Given the description of an element on the screen output the (x, y) to click on. 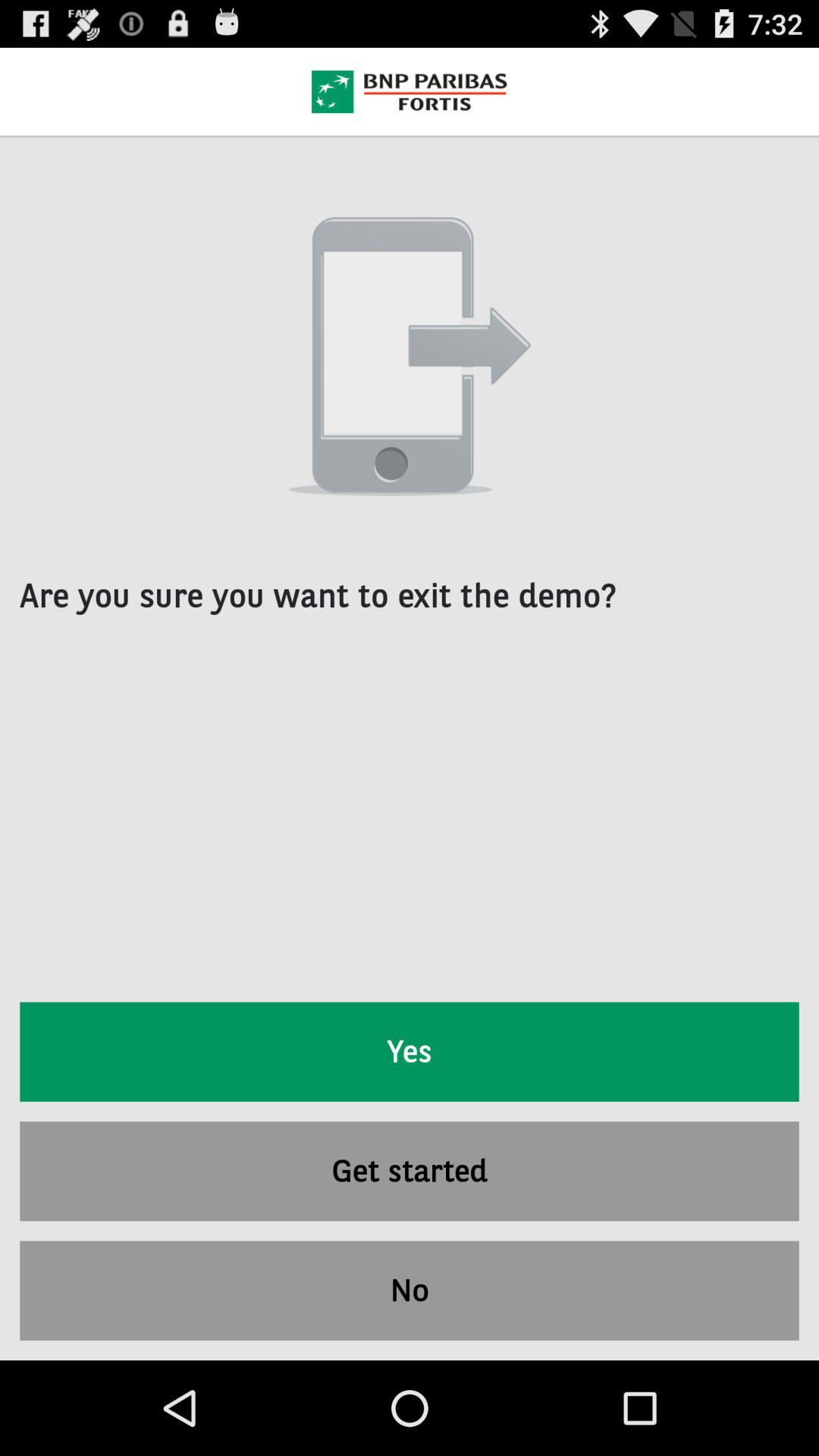
tap item below are you sure icon (409, 1051)
